Given the description of an element on the screen output the (x, y) to click on. 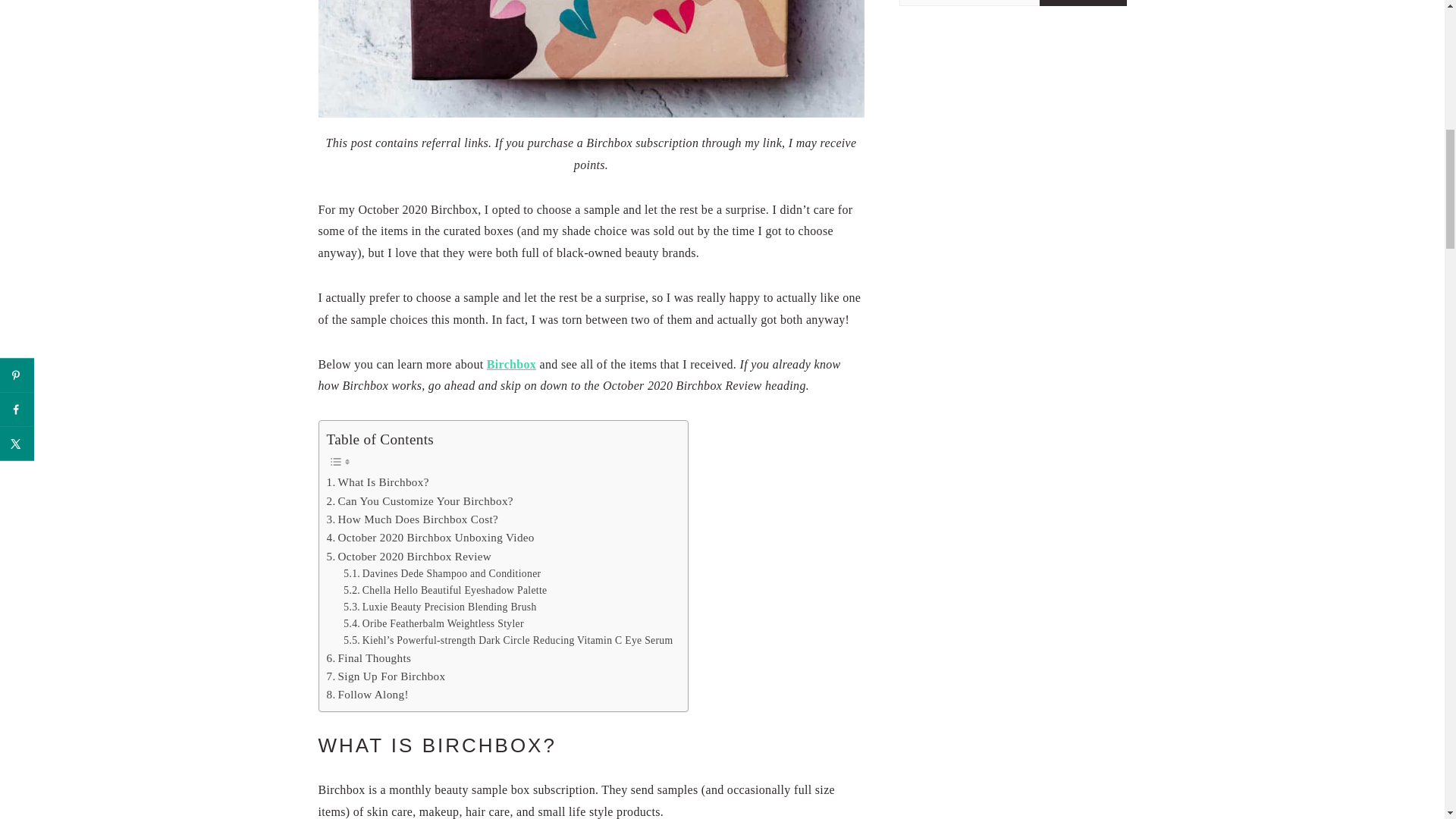
October 2020 Birchbox Review (409, 556)
October 2020 Birchbox Review (409, 556)
How Much Does Birchbox Cost? (411, 519)
How Much Does Birchbox Cost? (411, 519)
Search (1082, 2)
Can You Customize Your Birchbox? (419, 501)
Davines Dede Shampoo and Conditioner (441, 573)
Oribe Featherbalm Weightless Styler (433, 623)
Chella Hello Beautiful Eyeshadow Palette (445, 590)
What Is Birchbox? (377, 482)
October 2020 Birchbox Unboxing Video (430, 537)
Can You Customize Your Birchbox? (419, 501)
Oribe Featherbalm Weightless Styler (433, 623)
Birchbox (510, 364)
Davines Dede Shampoo and Conditioner (441, 573)
